Given the description of an element on the screen output the (x, y) to click on. 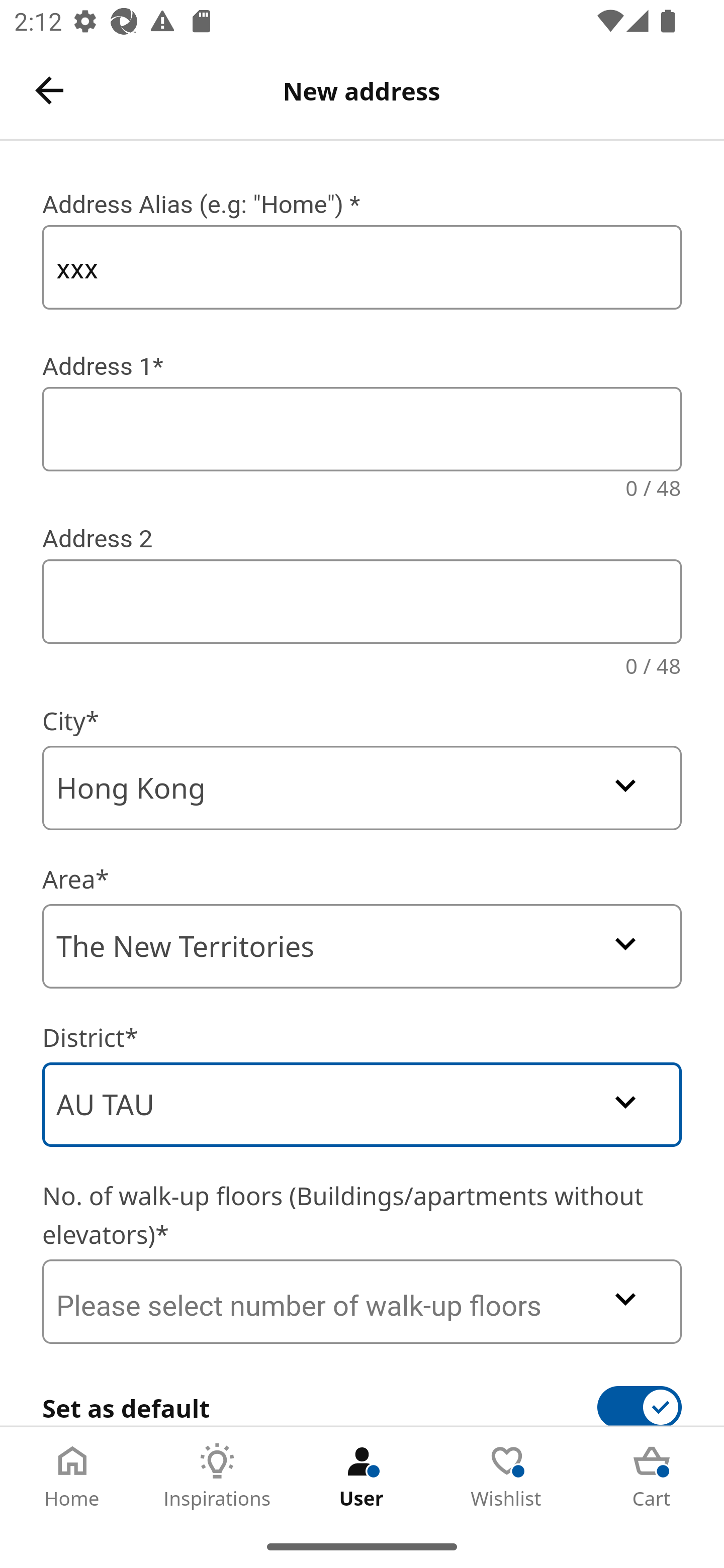
xxx (361, 266)
Hong Kong (361, 787)
The New Territories (361, 945)
AU TAU (361, 1104)
Please select number of walk-up floors (361, 1301)
Home
Tab 1 of 5 (72, 1476)
Inspirations
Tab 2 of 5 (216, 1476)
User
Tab 3 of 5 (361, 1476)
Wishlist
Tab 4 of 5 (506, 1476)
Cart
Tab 5 of 5 (651, 1476)
